Given the description of an element on the screen output the (x, y) to click on. 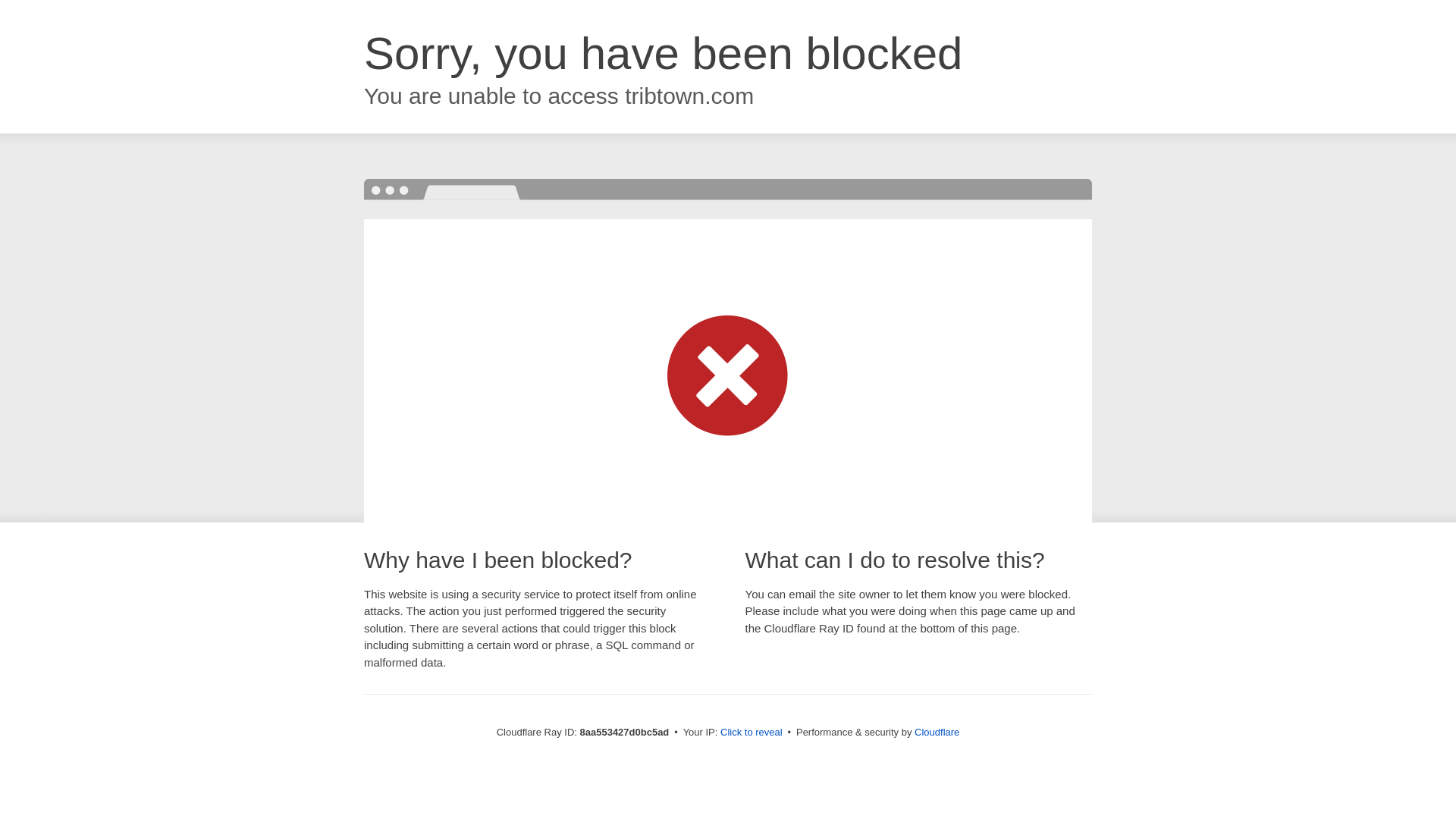
Click to reveal (751, 732)
Cloudflare (936, 731)
